Given the description of an element on the screen output the (x, y) to click on. 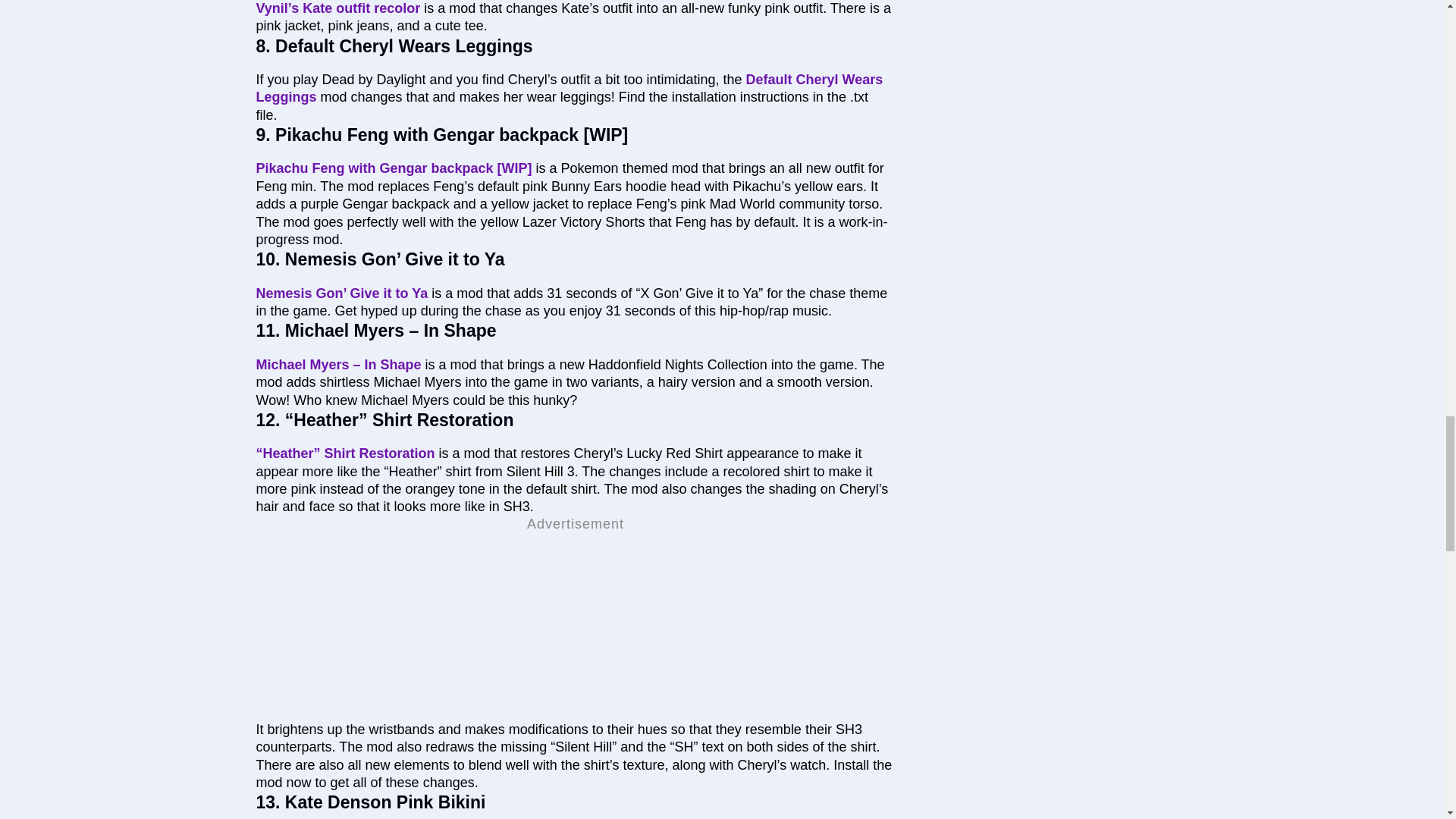
Default Cheryl Wears Leggings (569, 88)
